Given the description of an element on the screen output the (x, y) to click on. 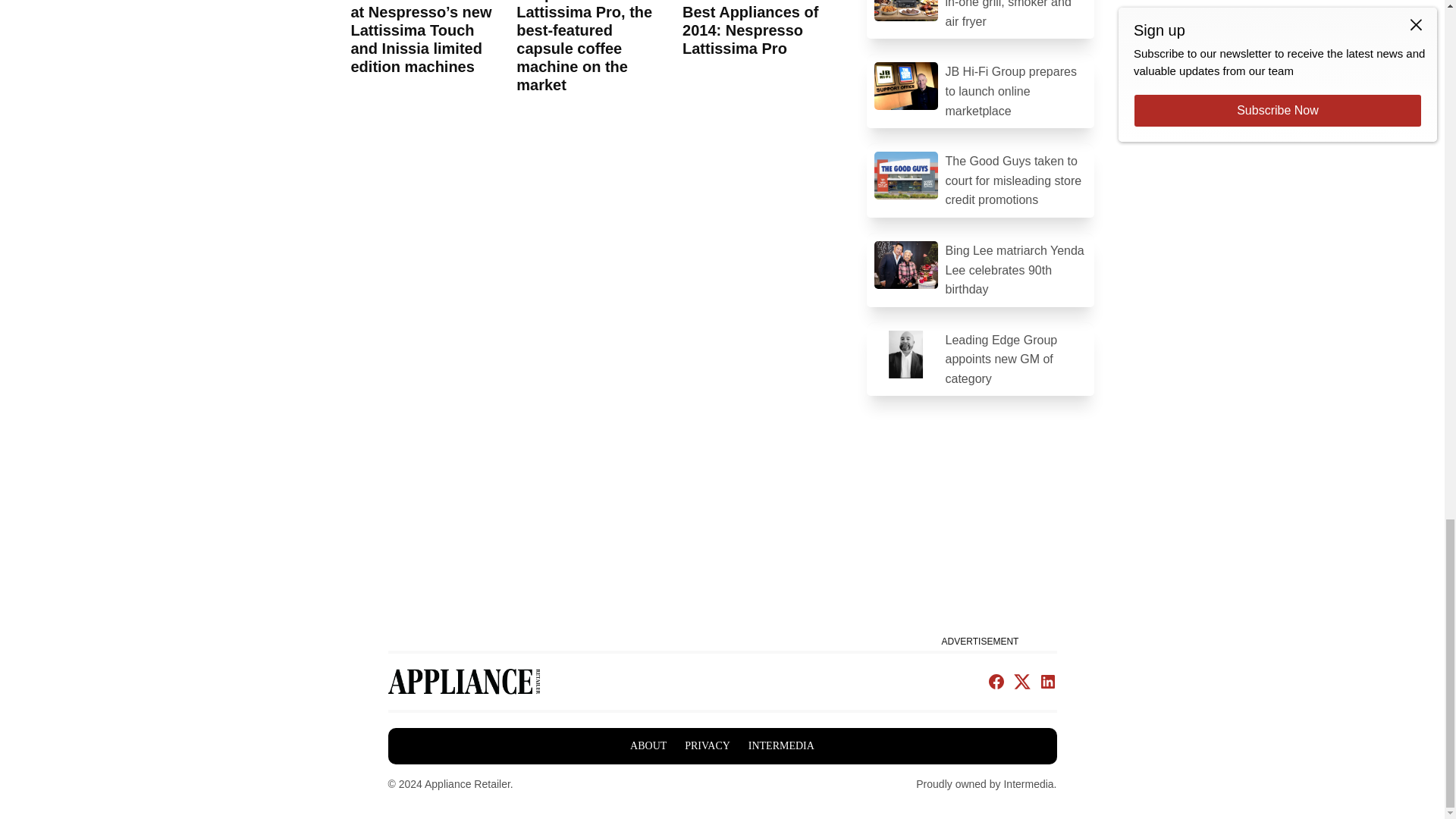
Leading Edge Group appoints new GM of category (979, 359)
JB Hi-Fi Group prepares to launch online marketplace (979, 91)
3rd party ad content (979, 535)
Bing Lee matriarch Yenda Lee celebrates 90th birthday (979, 269)
